Given the description of an element on the screen output the (x, y) to click on. 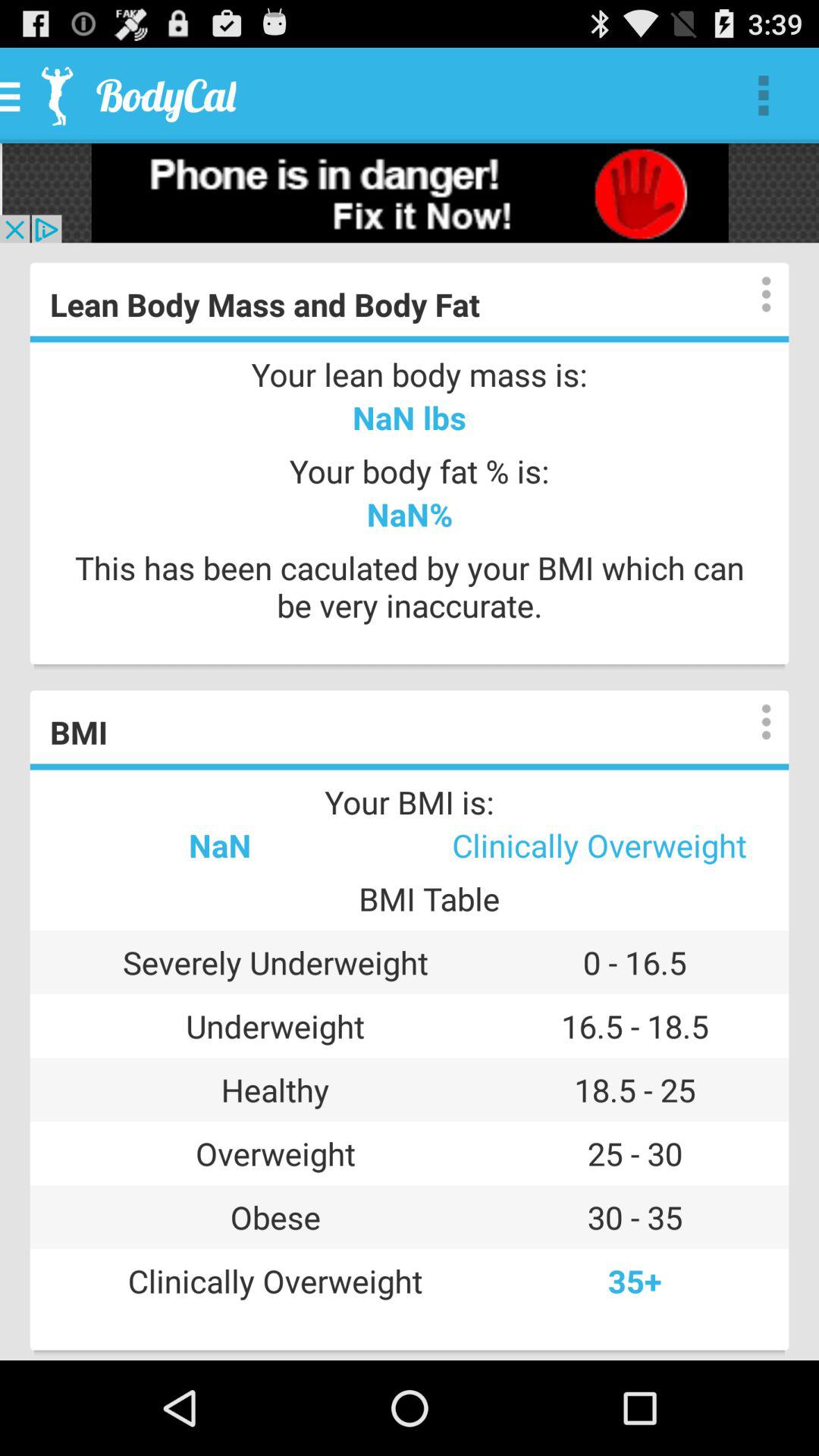
select advertisement (409, 192)
